Given the description of an element on the screen output the (x, y) to click on. 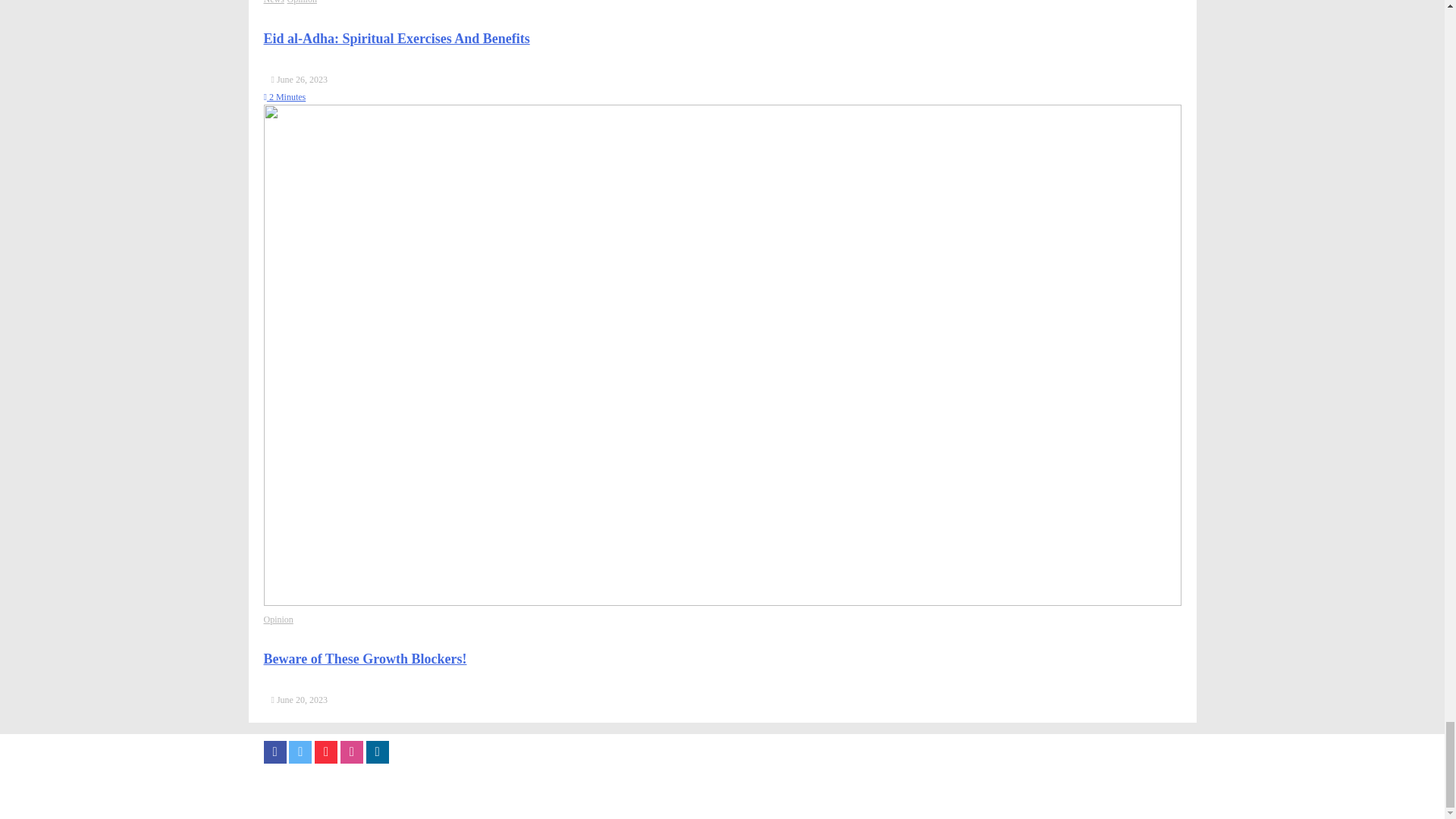
Estimated Reading Time of Article (284, 96)
